Given the description of an element on the screen output the (x, y) to click on. 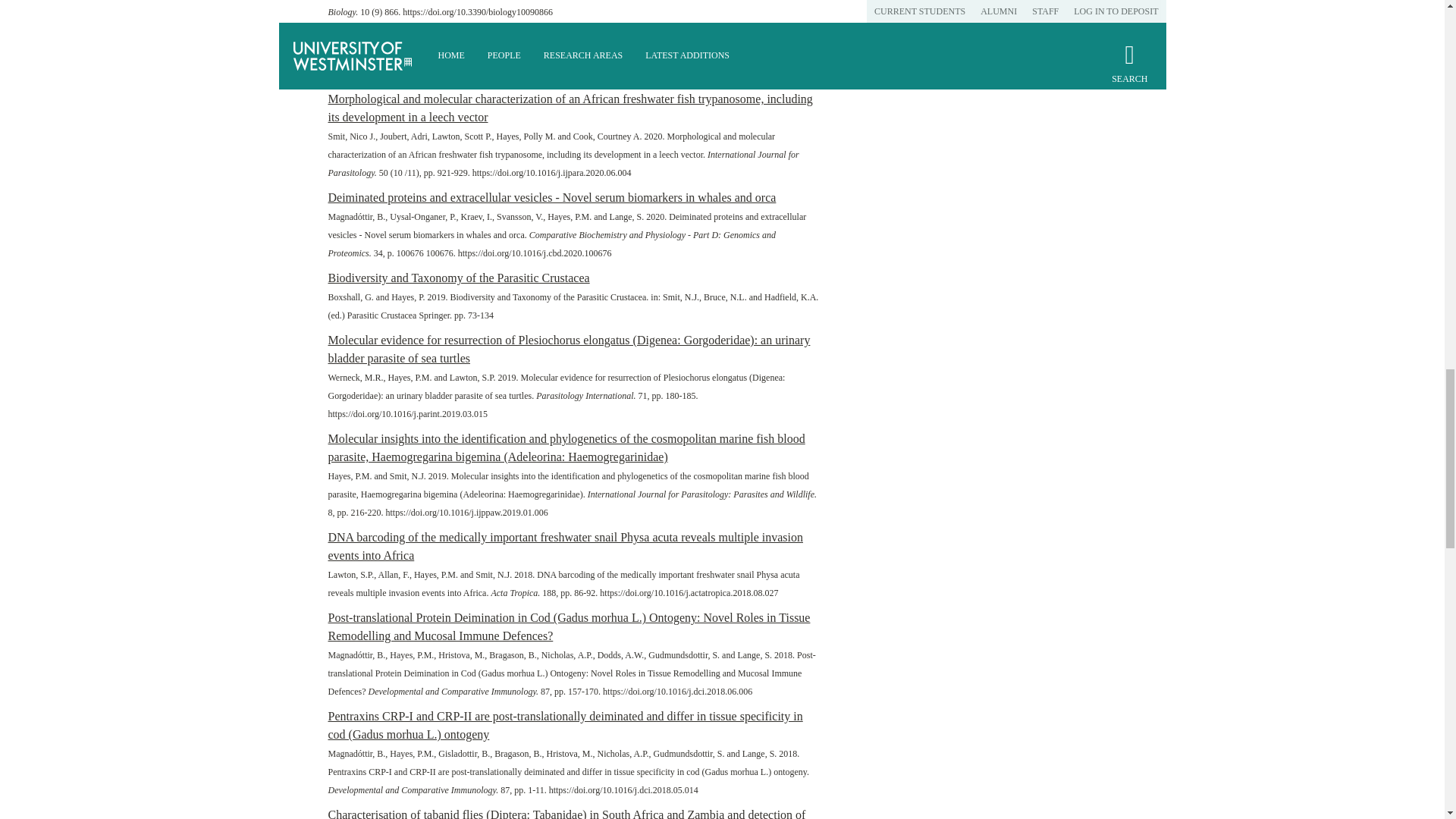
Biodiversity and Taxonomy of the Parasitic Crustacea (458, 277)
